Given the description of an element on the screen output the (x, y) to click on. 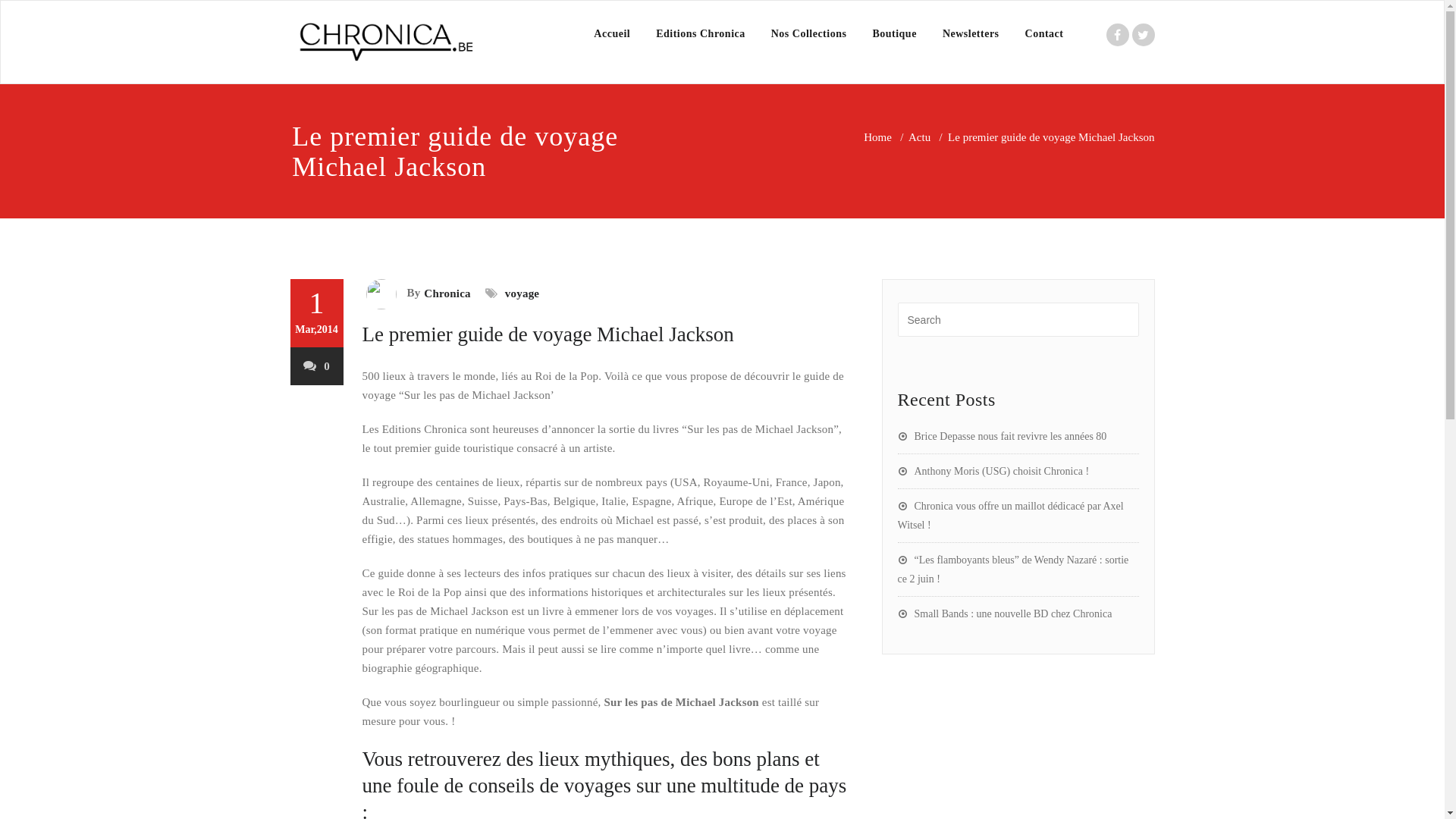
Appointment Element type: hover (384, 41)
Nos Collections Element type: text (808, 33)
Le premier guide de voyage Michael Jackson Element type: text (548, 334)
Home Element type: text (877, 137)
Newsletters Element type: text (970, 33)
Editions Chronica Element type: text (700, 33)
Actu Element type: text (919, 137)
Accueil Element type: text (611, 33)
Small Bands : une nouvelle BD chez Chronica Element type: text (1004, 613)
0 Element type: text (316, 366)
Anthony Moris (USG) choisit Chronica ! Element type: text (993, 470)
voyage Element type: text (520, 293)
Contact Element type: text (1044, 33)
Boutique Element type: text (893, 33)
Chronica Element type: text (445, 293)
